Given the description of an element on the screen output the (x, y) to click on. 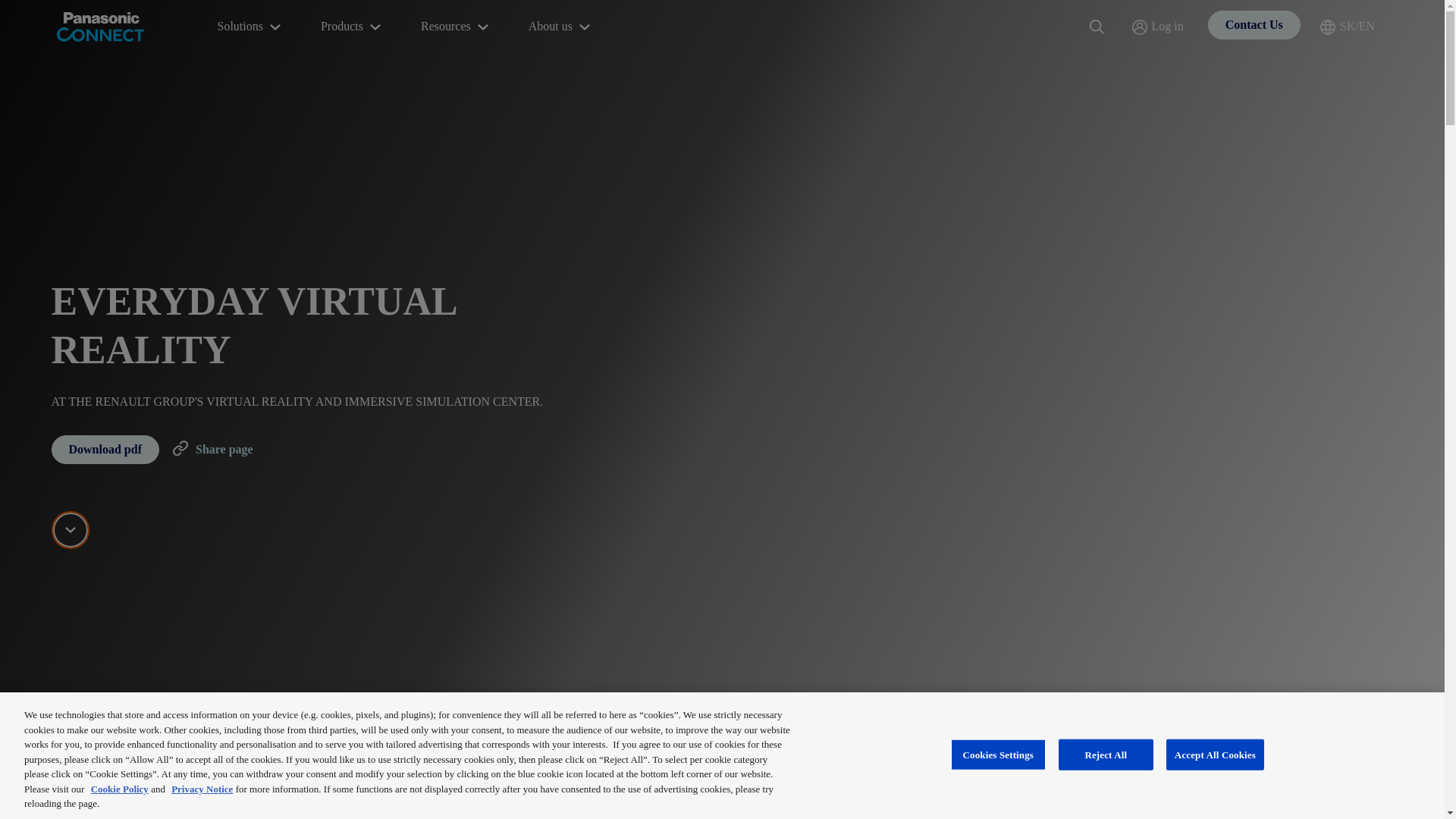
Products (352, 26)
Solutions (250, 26)
Resources (455, 26)
About us (560, 26)
